Given the description of an element on the screen output the (x, y) to click on. 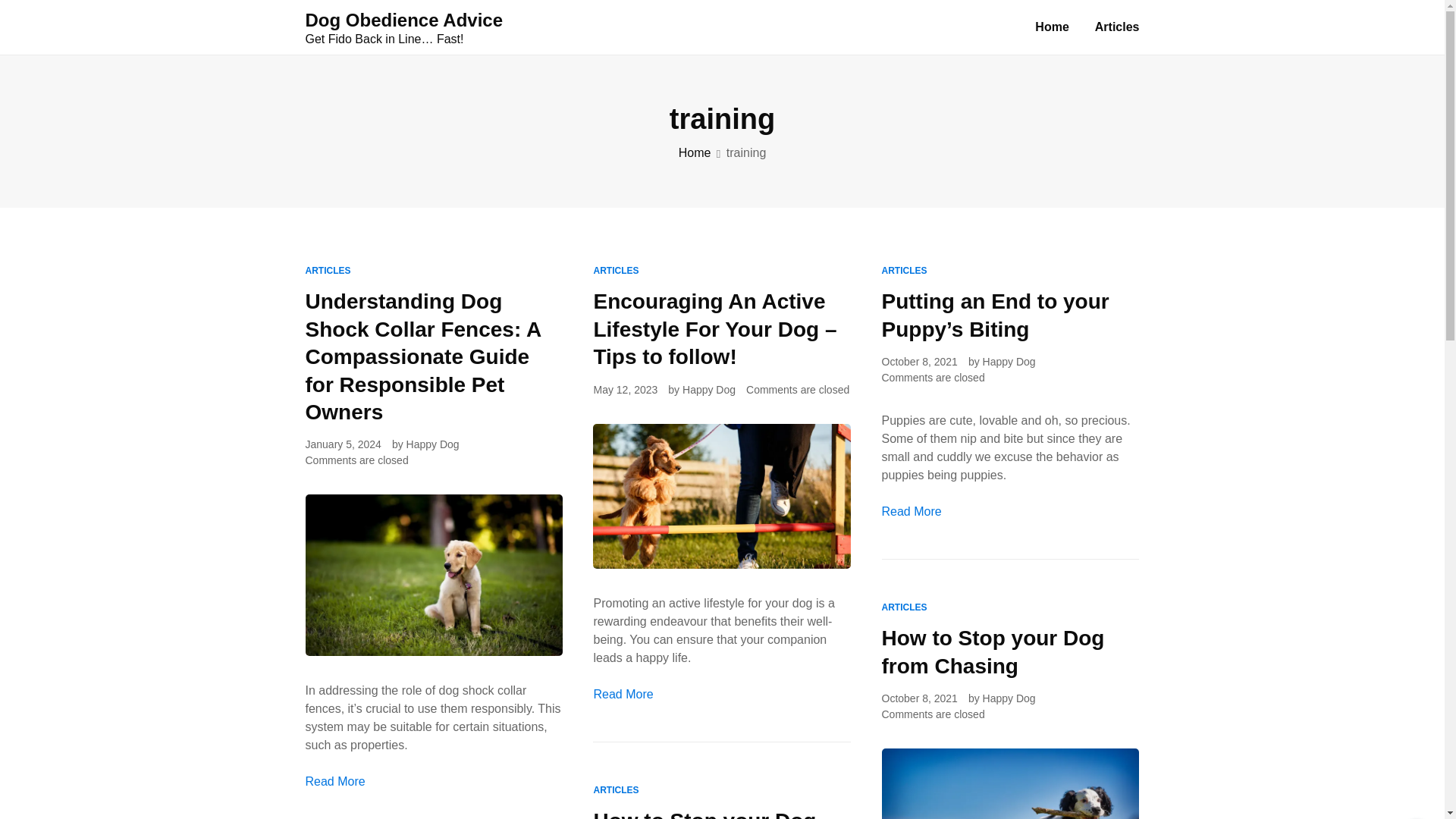
ARTICLES (903, 607)
by Happy Dog (1001, 361)
ARTICLES (903, 270)
ARTICLES (615, 270)
by Happy Dog (425, 444)
How to Stop your Dog from Chasing (991, 651)
ARTICLES (615, 789)
